Given the description of an element on the screen output the (x, y) to click on. 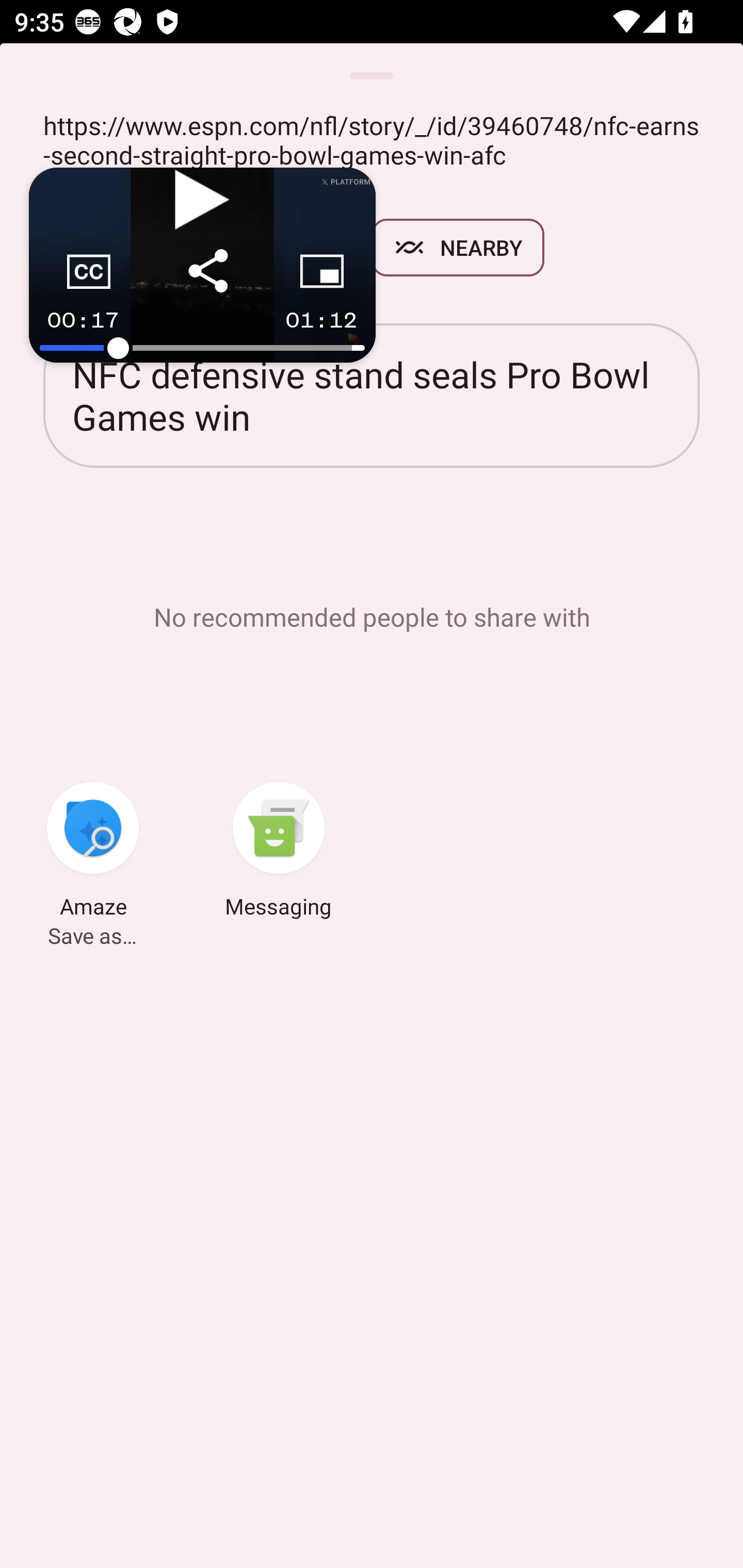
NEARBY (457, 247)
Amaze Save as… (92, 852)
Messaging (278, 852)
